Given the description of an element on the screen output the (x, y) to click on. 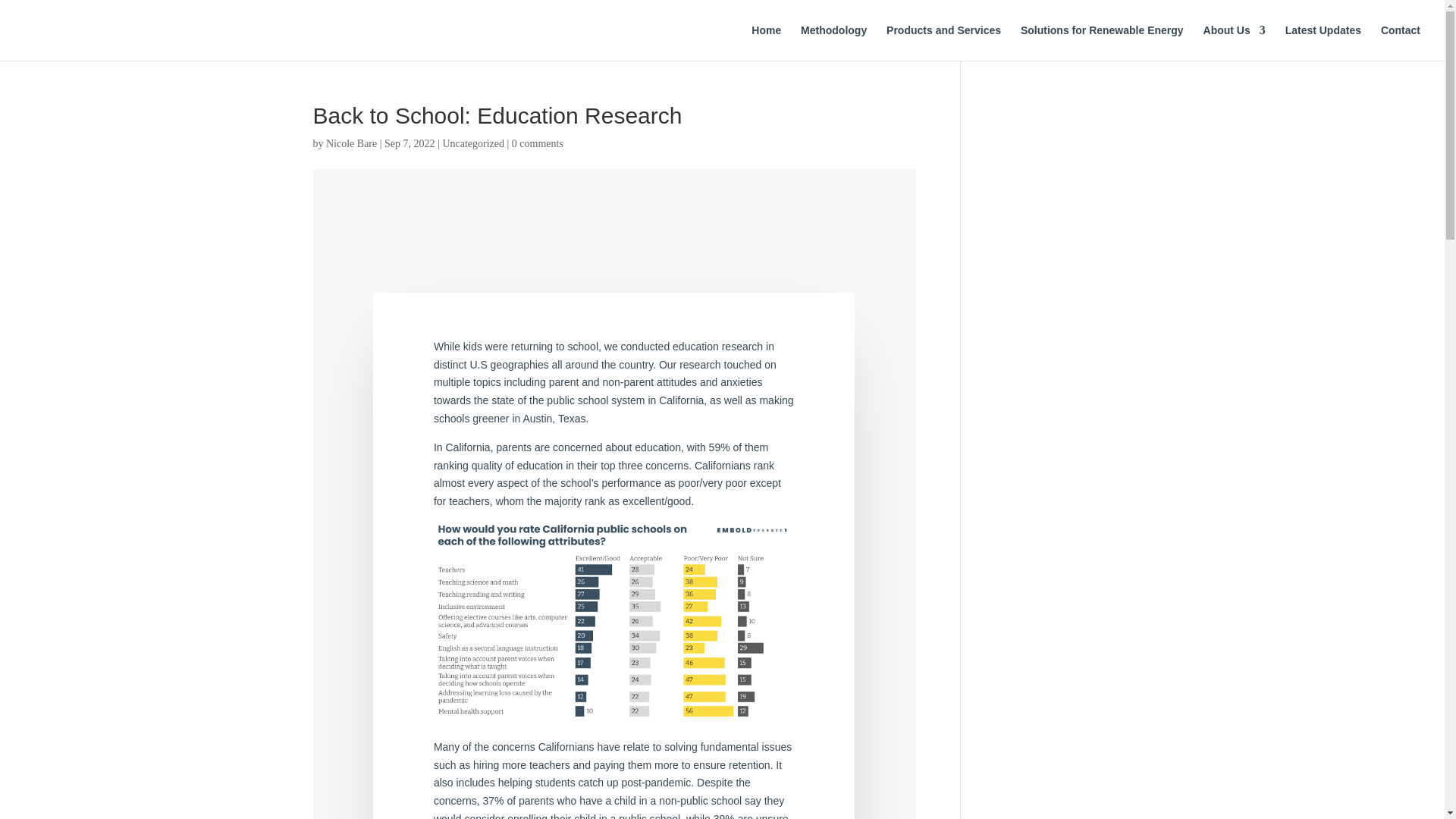
Untitled (613, 619)
Methodology (833, 42)
About Us (1234, 42)
Solutions for Renewable Energy (1101, 42)
Products and Services (943, 42)
Contact (1400, 42)
Nicole Bare (351, 143)
Posts by Nicole Bare (351, 143)
0 comments (537, 143)
Latest Updates (1323, 42)
